Given the description of an element on the screen output the (x, y) to click on. 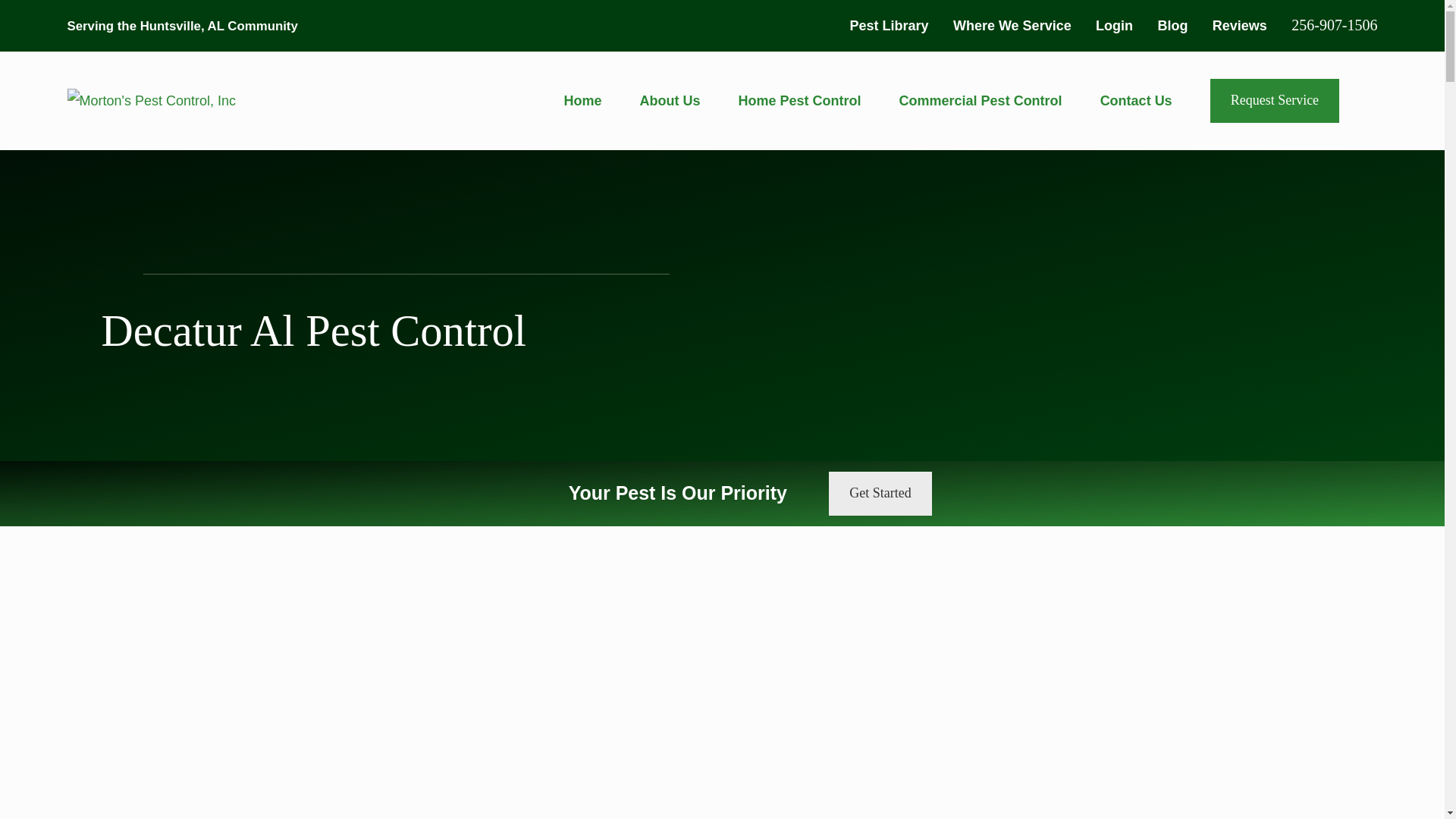
Blog (1172, 25)
Home (150, 100)
Commercial Pest Control (980, 100)
Login (1114, 25)
Where We Service (1012, 25)
About Us (670, 100)
Pest Library (888, 25)
Reviews (1239, 25)
256-907-1506 (1334, 24)
Contact Us (1136, 100)
